Given the description of an element on the screen output the (x, y) to click on. 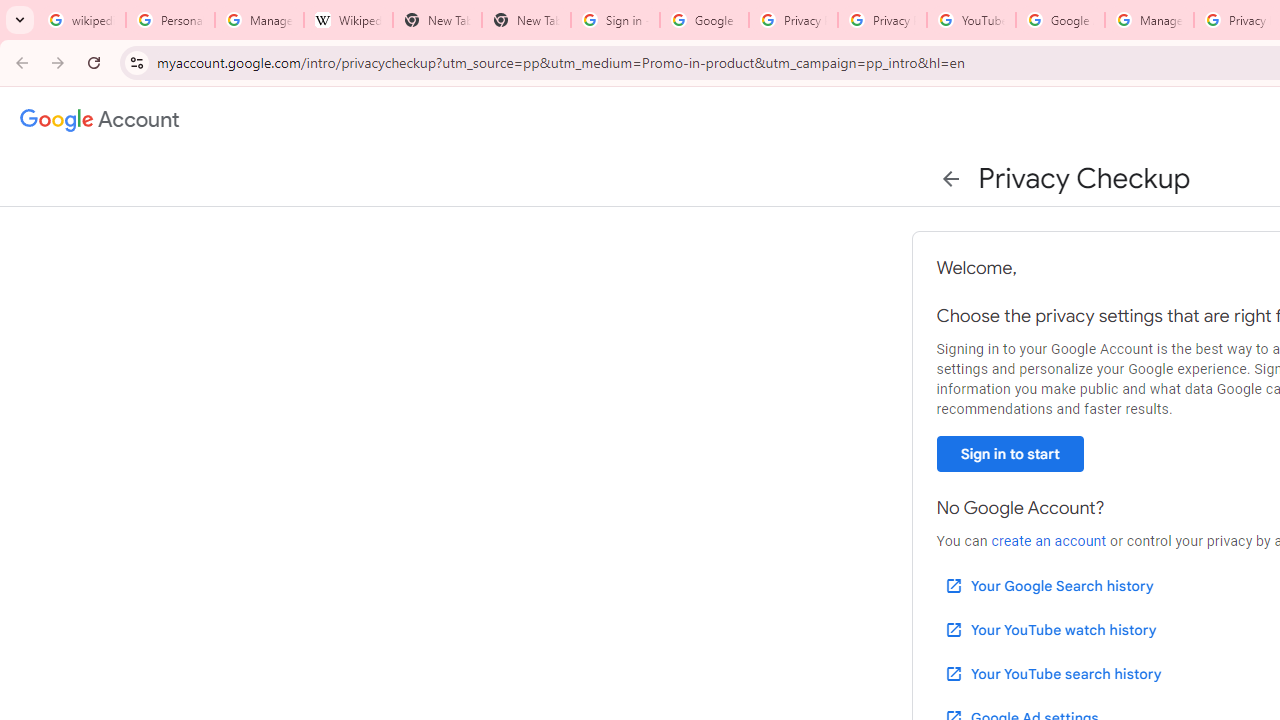
New Tab (526, 20)
Sign in - Google Accounts (615, 20)
New Tab (437, 20)
Google Account Help (1060, 20)
Manage your Location History - Google Search Help (259, 20)
Your YouTube watch history (1049, 630)
create an account (1048, 541)
